Given the description of an element on the screen output the (x, y) to click on. 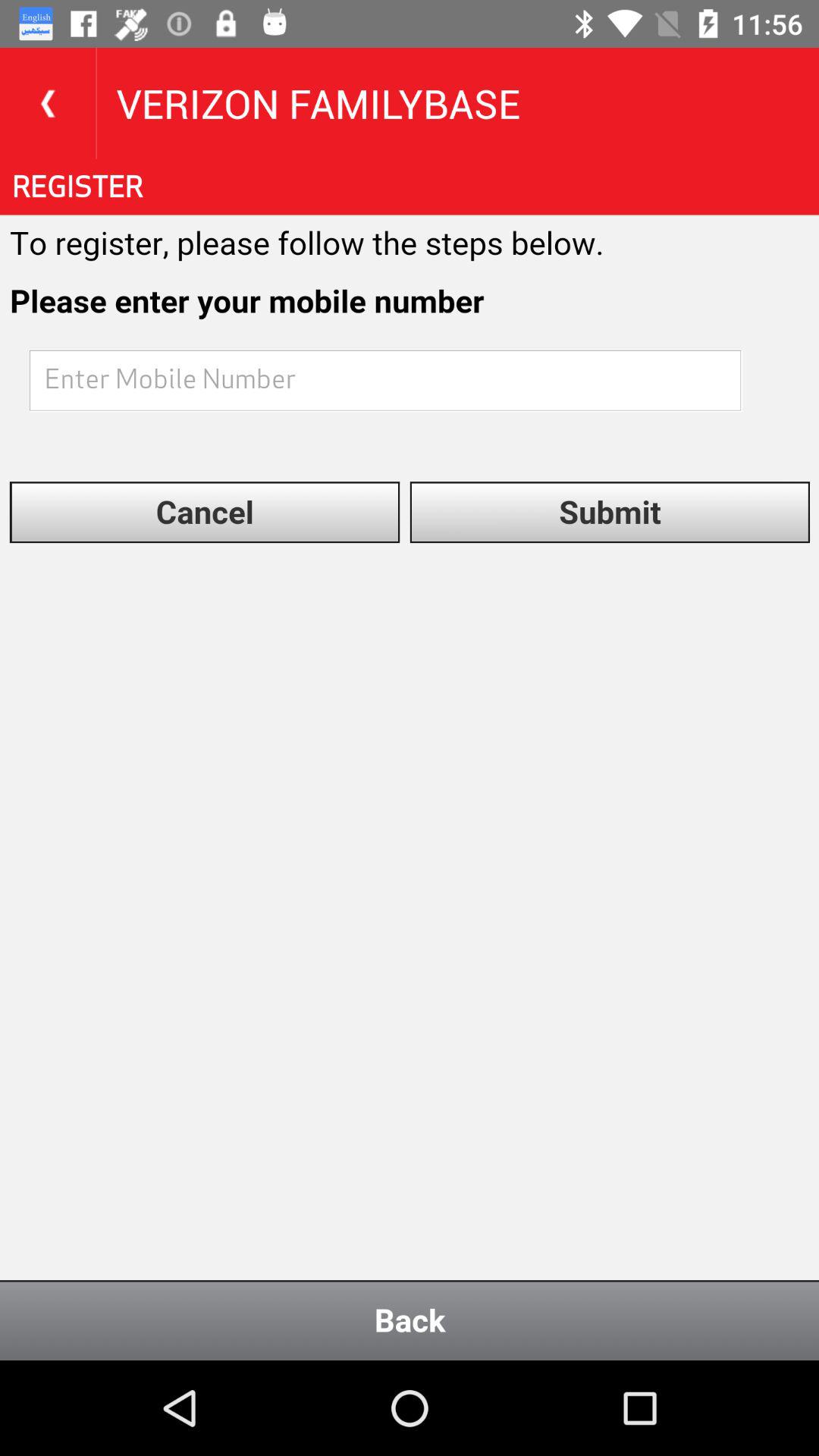
page for registration (409, 759)
